Given the description of an element on the screen output the (x, y) to click on. 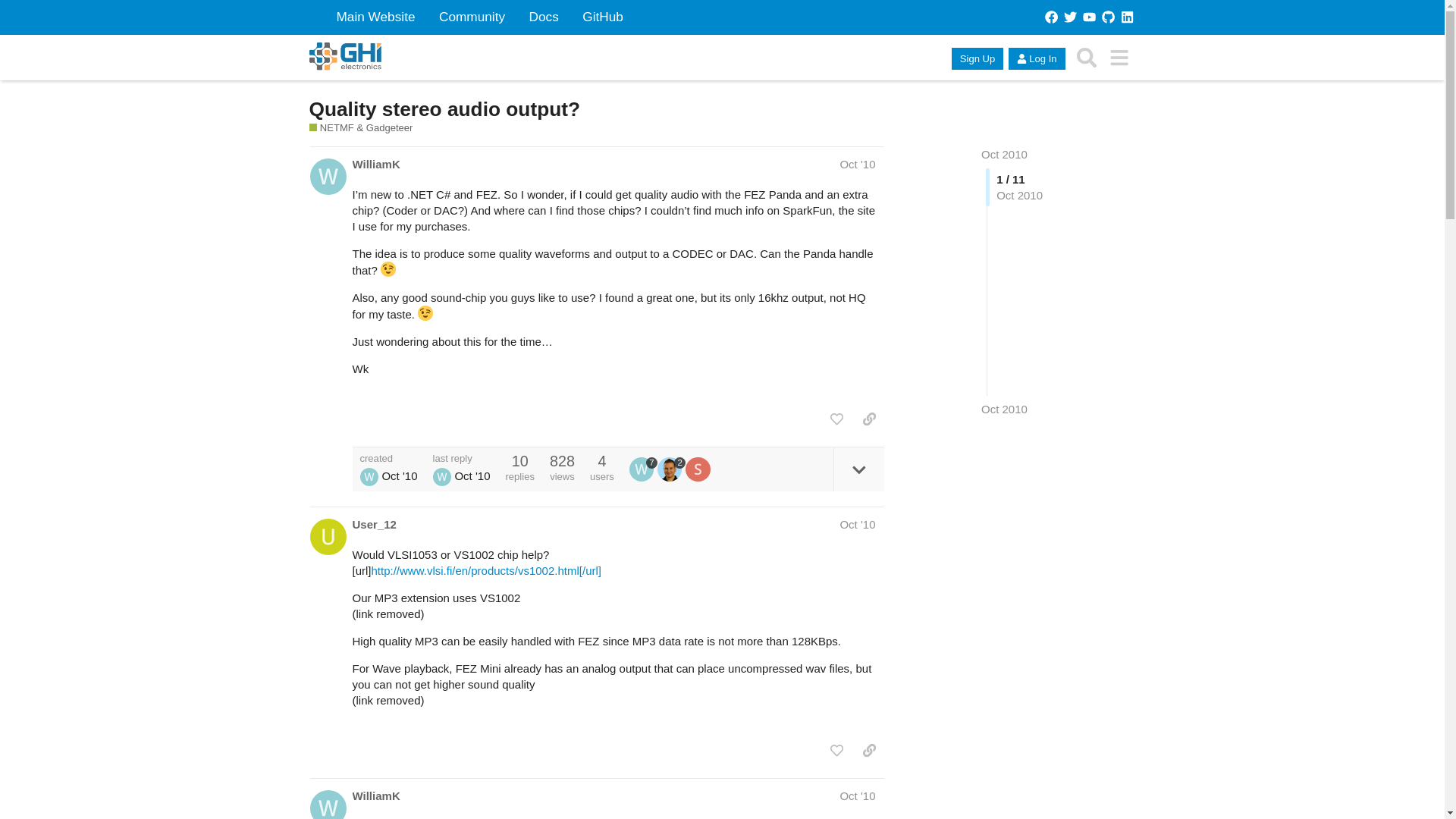
Oct 2010 (1004, 154)
Search (1086, 57)
Oct 2010 (1004, 154)
Oct '10 (857, 523)
Oct 17, 2010 9:44 pm (398, 475)
Quality stereo audio output? (444, 108)
William K. (368, 476)
Oct 18, 2010 3:02 am (1004, 408)
2 (671, 469)
Oct '10 (857, 164)
